Given the description of an element on the screen output the (x, y) to click on. 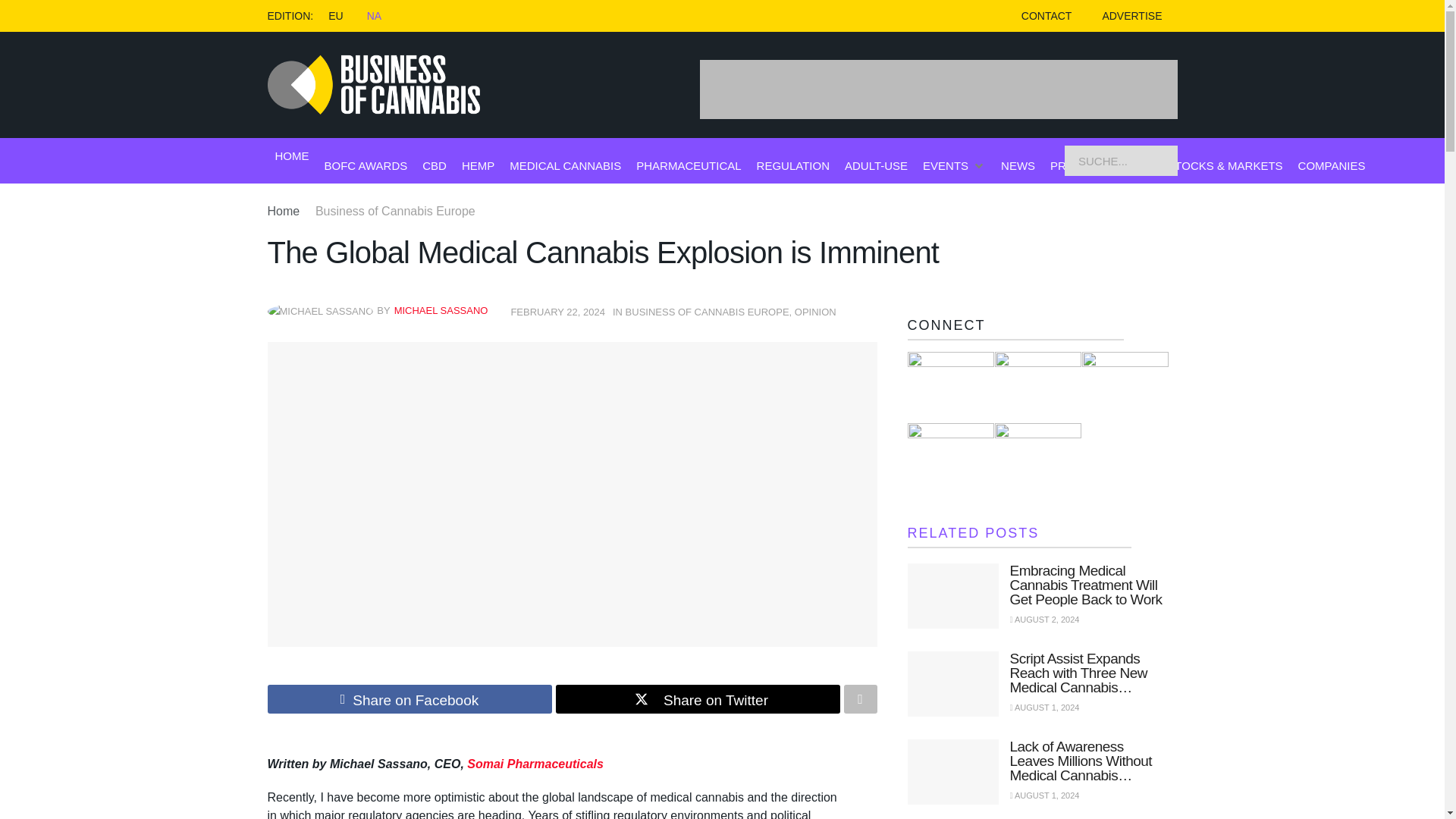
REGULATION (793, 165)
HEMP (478, 165)
ADULT-USE (875, 165)
CONTACT (1046, 15)
Share on Facebook (408, 698)
PHARMACEUTICAL (688, 165)
MEDICAL CANNABIS (565, 165)
ADVERTISE (1131, 15)
COMPANIES (1331, 165)
EVENTS (945, 165)
